Given the description of an element on the screen output the (x, y) to click on. 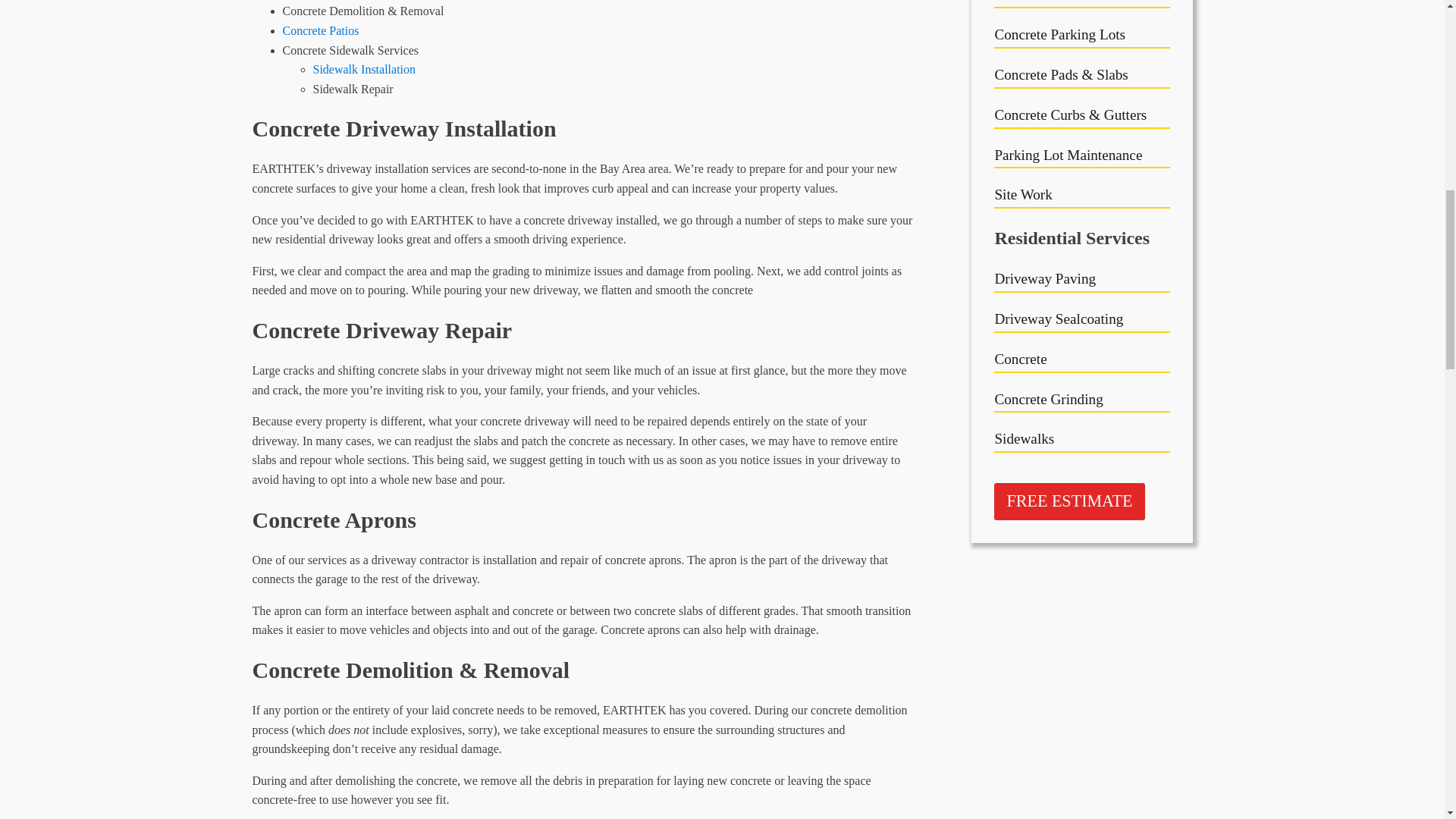
Concrete Patios (320, 30)
Sidewalk Installation (363, 69)
